Given the description of an element on the screen output the (x, y) to click on. 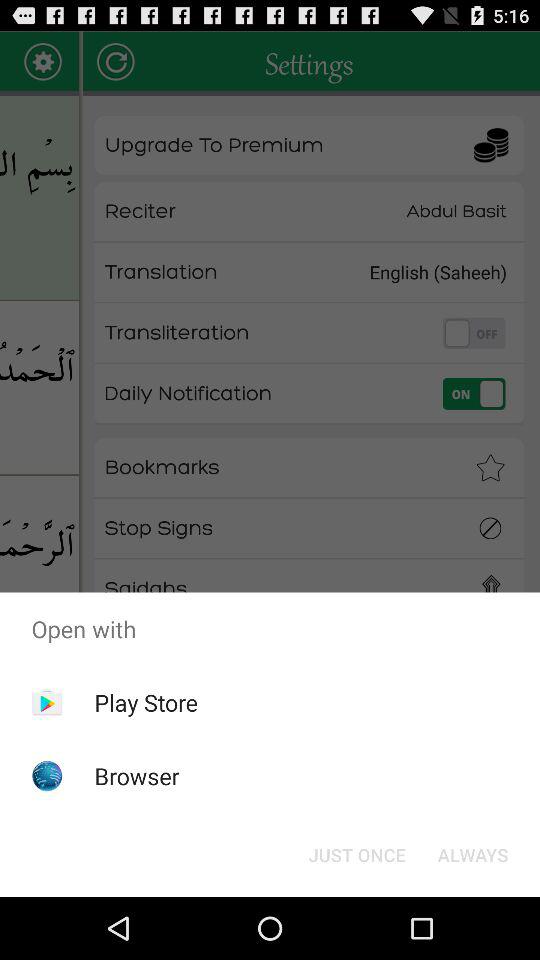
select the button at the bottom right corner (472, 854)
